Given the description of an element on the screen output the (x, y) to click on. 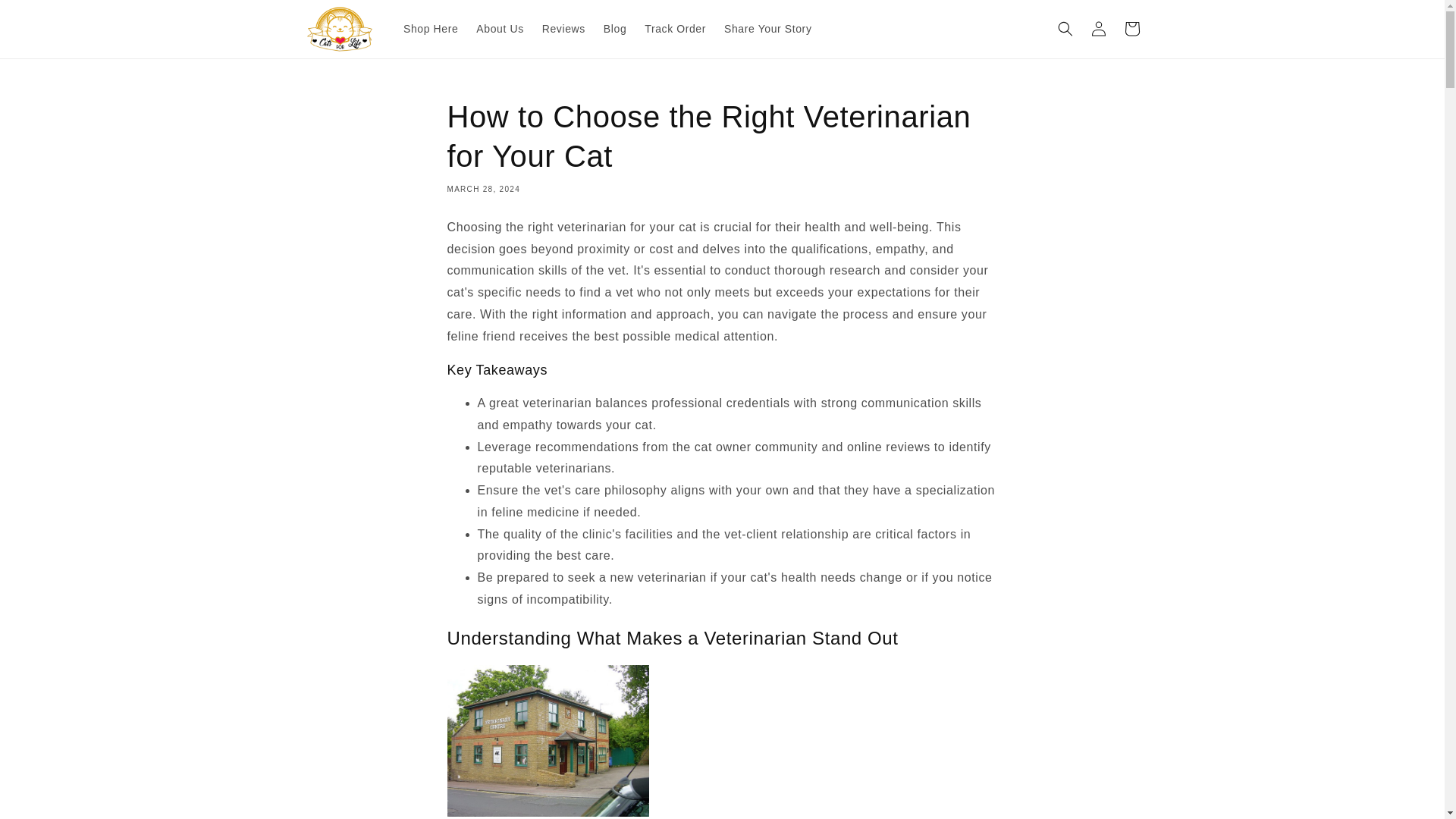
Skip to content (45, 17)
Reviews (563, 29)
Log in (1098, 28)
Shop Here (430, 29)
Share Your Story (767, 29)
Track Order (674, 29)
Blog (614, 29)
About Us (499, 29)
Cart (1131, 28)
